Given the description of an element on the screen output the (x, y) to click on. 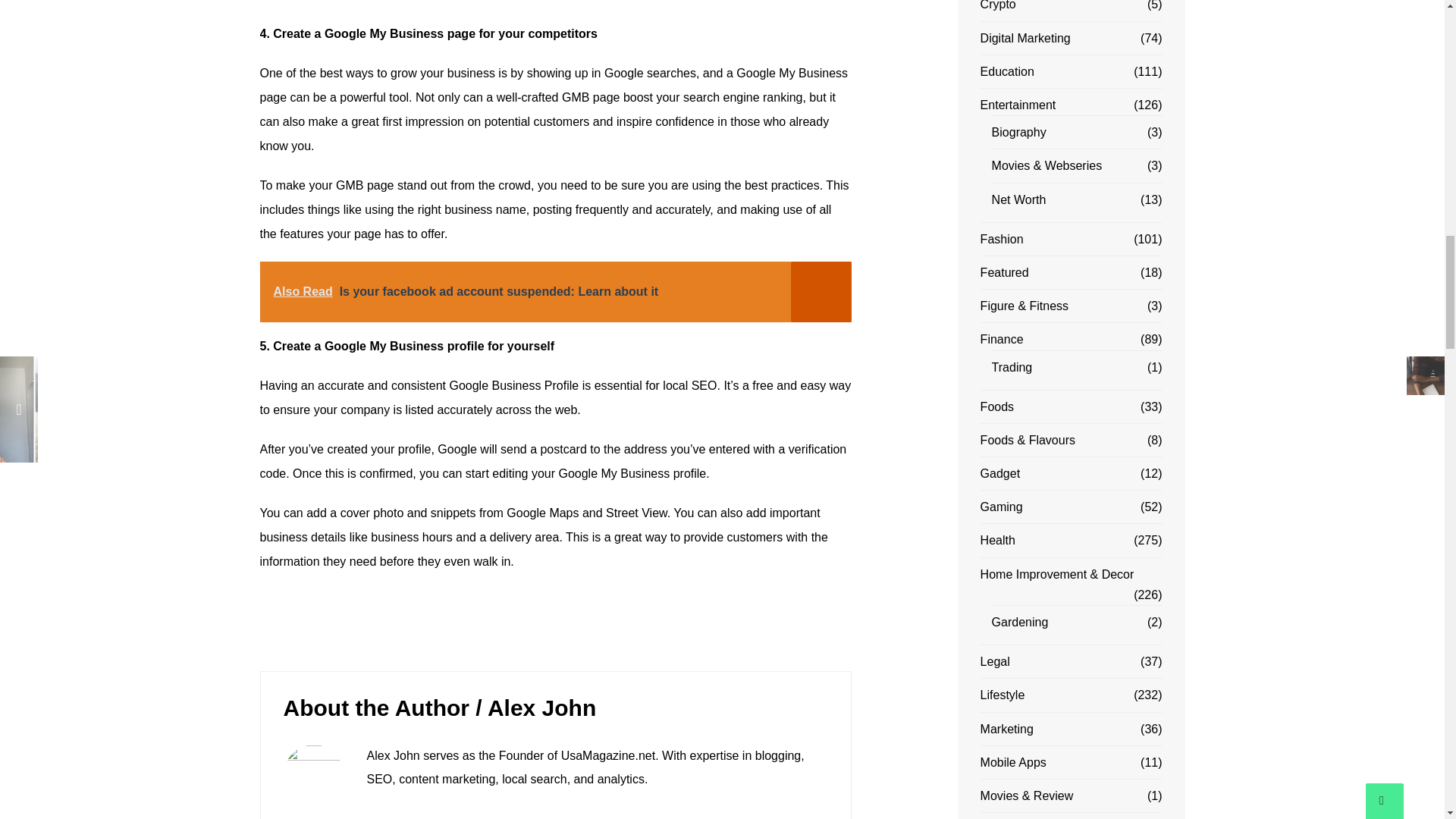
Alex John (541, 707)
Posts by Alex John (541, 707)
